Given the description of an element on the screen output the (x, y) to click on. 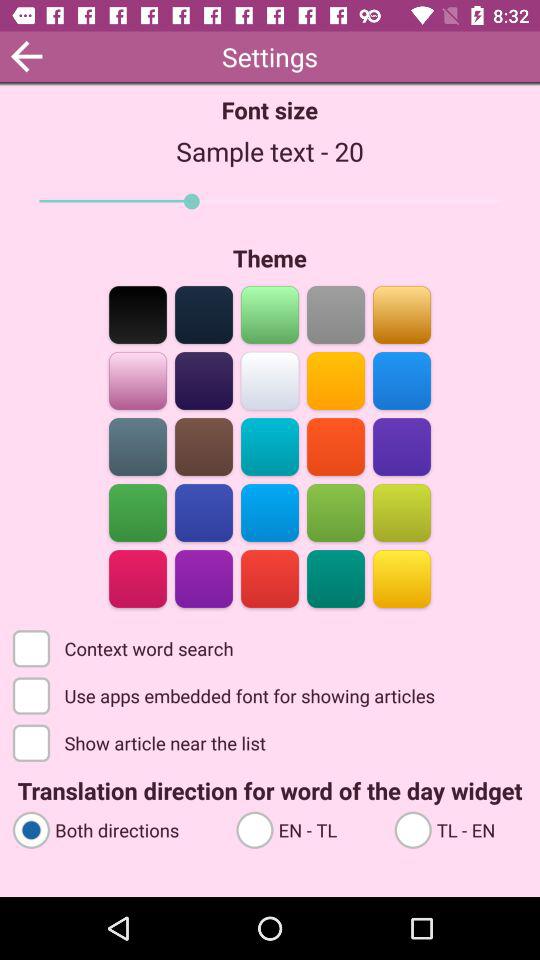
change theme to white (269, 379)
